Given the description of an element on the screen output the (x, y) to click on. 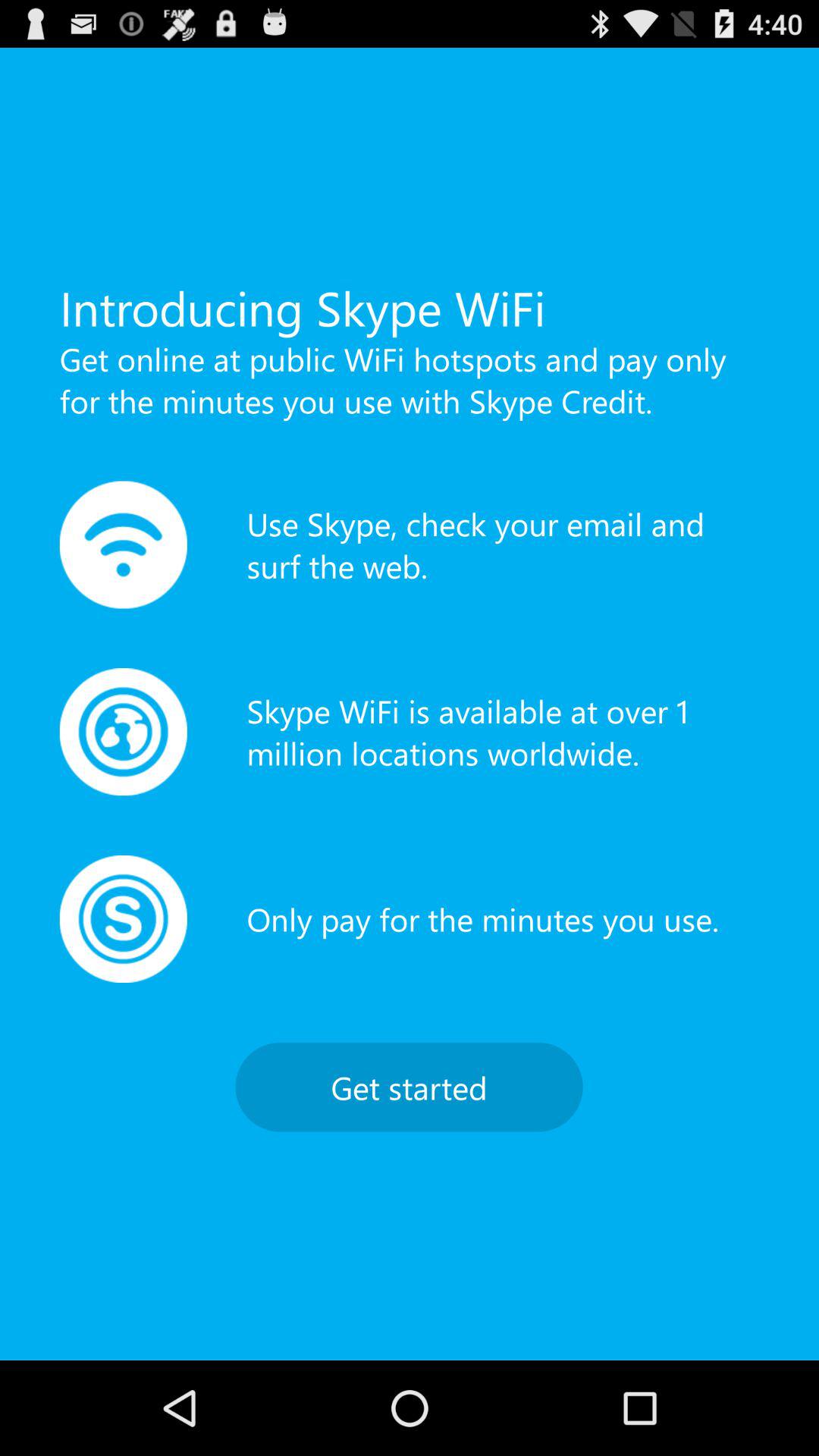
open get started at the bottom (408, 1086)
